Given the description of an element on the screen output the (x, y) to click on. 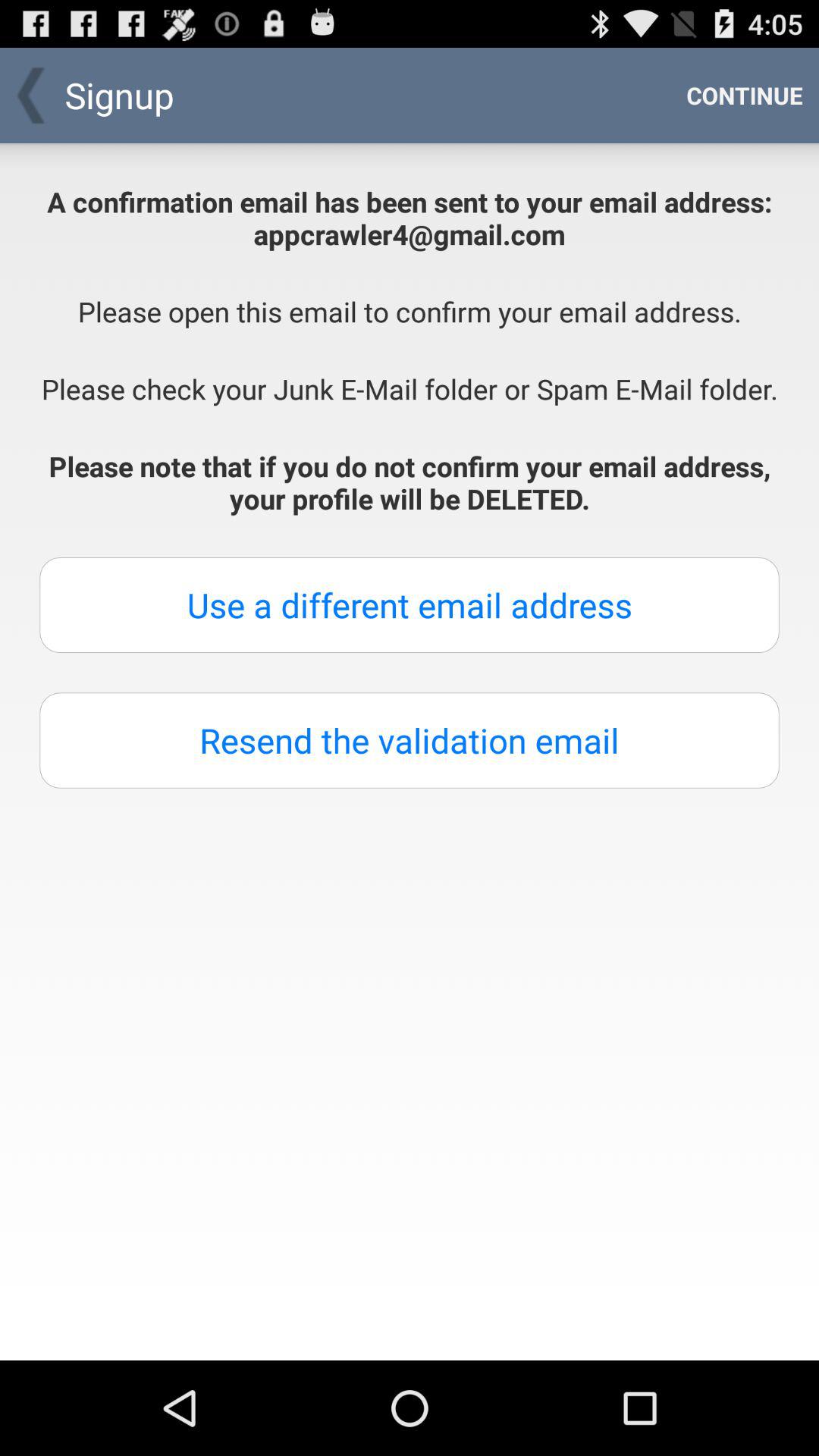
select icon above resend the validation (409, 604)
